Given the description of an element on the screen output the (x, y) to click on. 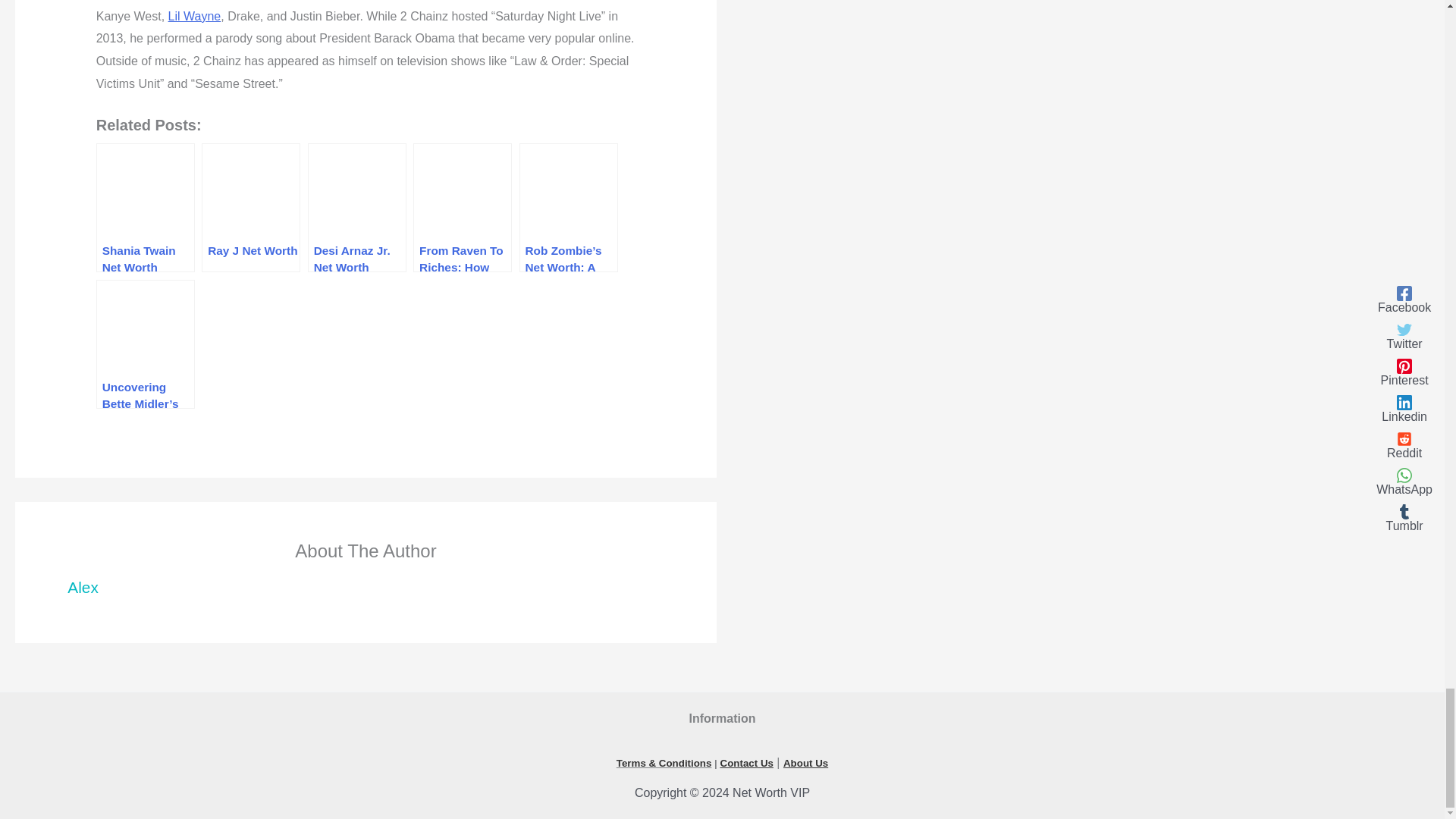
shania twain net worth 9 (146, 193)
Lil Wayne (194, 15)
desi arnaz jr. net worth 11 (358, 193)
ray j net worth 10 (251, 193)
